Given the description of an element on the screen output the (x, y) to click on. 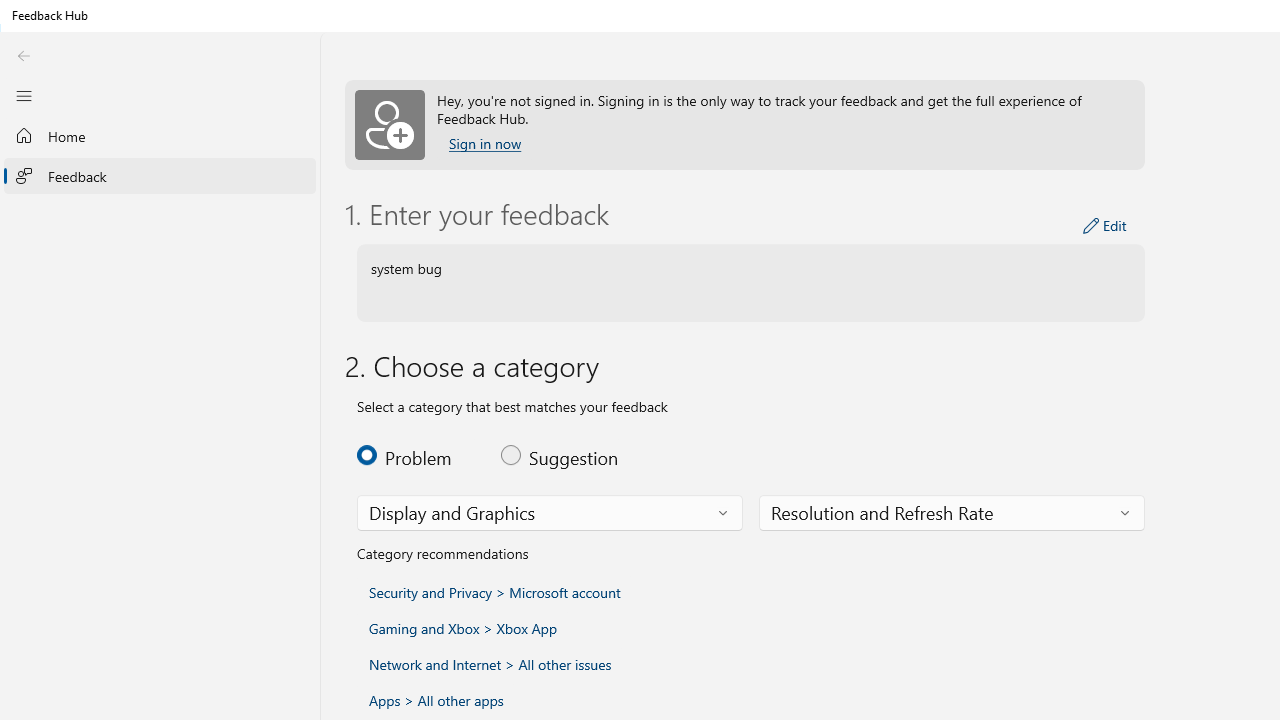
Feedback type, Problem (417, 454)
